Given the description of an element on the screen output the (x, y) to click on. 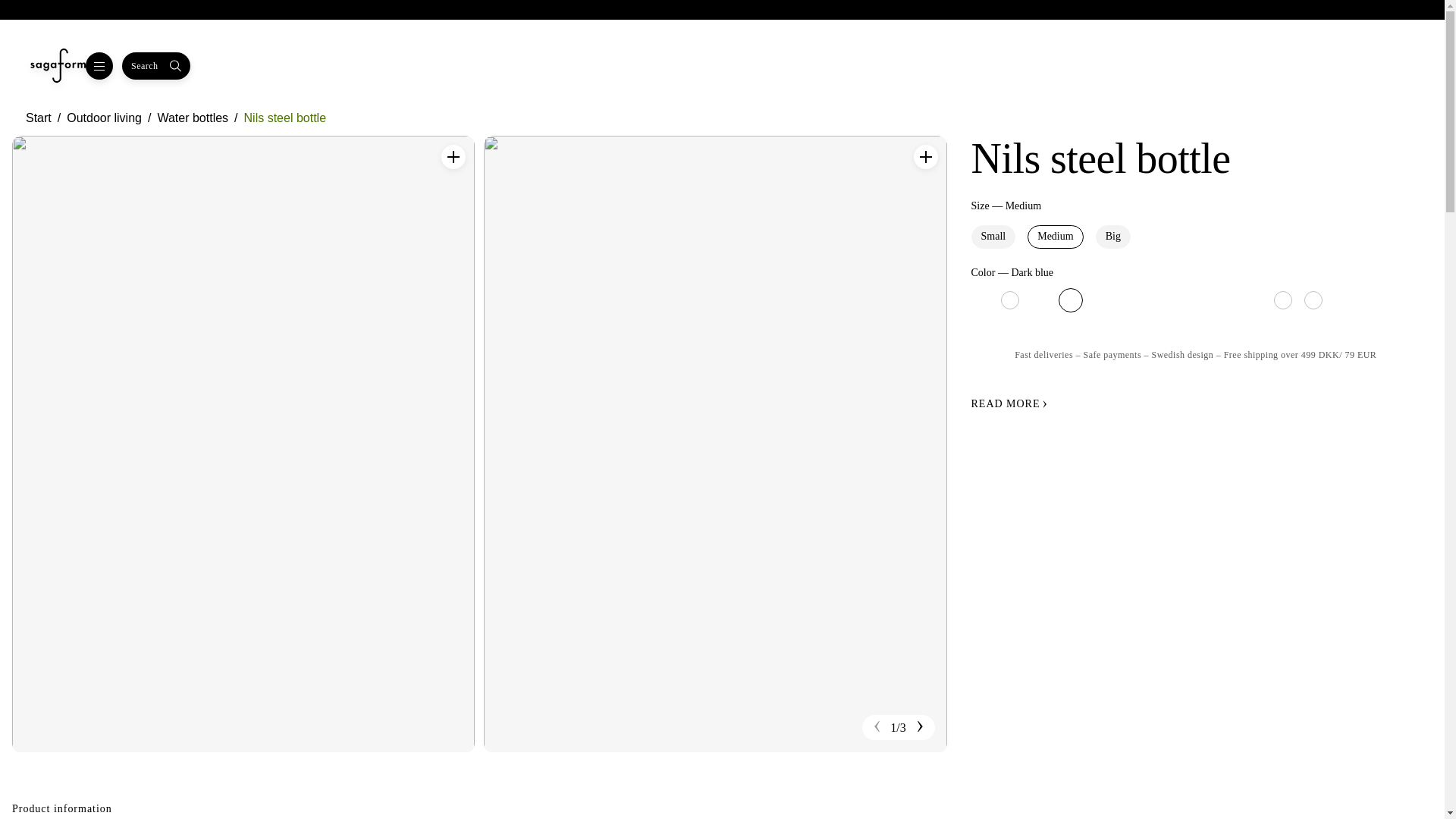
mellan - silver (1253, 300)
mellan - dark blue (1071, 300)
mellan - gold (1131, 300)
mellan - white (1283, 300)
Search (156, 65)
mellan - yellow (1374, 300)
mellan - green (1162, 300)
mellan - wood (1344, 300)
mellan - light blue (1192, 300)
mellan - pink (1222, 300)
mellan - blue (1040, 300)
mellan - dark green (1101, 300)
mellan - black (980, 300)
